Given the description of an element on the screen output the (x, y) to click on. 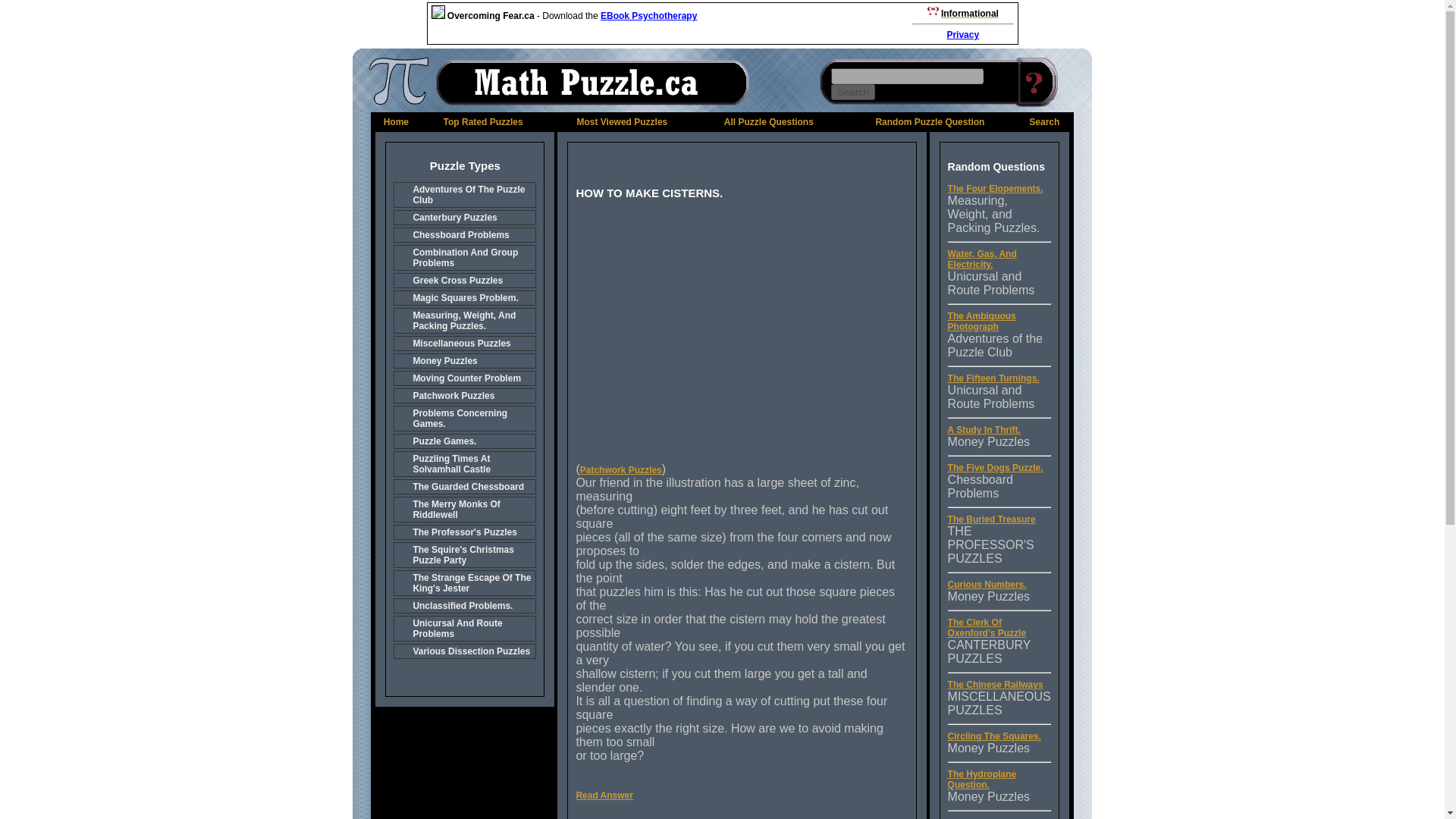
Puzzle Games. (464, 441)
Part of Informational.ca (1054, 109)
Measuring, Weight, And Packing Puzzles. (464, 320)
Magic Squares Problem. (464, 297)
The Guarded Chessboard (464, 486)
Moving Counter Problem (464, 378)
Puzzling Times At Solvamhall Castle (464, 463)
Canterbury Puzzles (464, 217)
The Merry Monks Of Riddlewell (464, 509)
The Professor's Puzzles (464, 531)
Patchwork Puzzles (620, 470)
Top Rated Puzzles (483, 122)
Random Puzzle Question (929, 122)
Various Dissection Puzzles (464, 651)
Informational (969, 13)
